Given the description of an element on the screen output the (x, y) to click on. 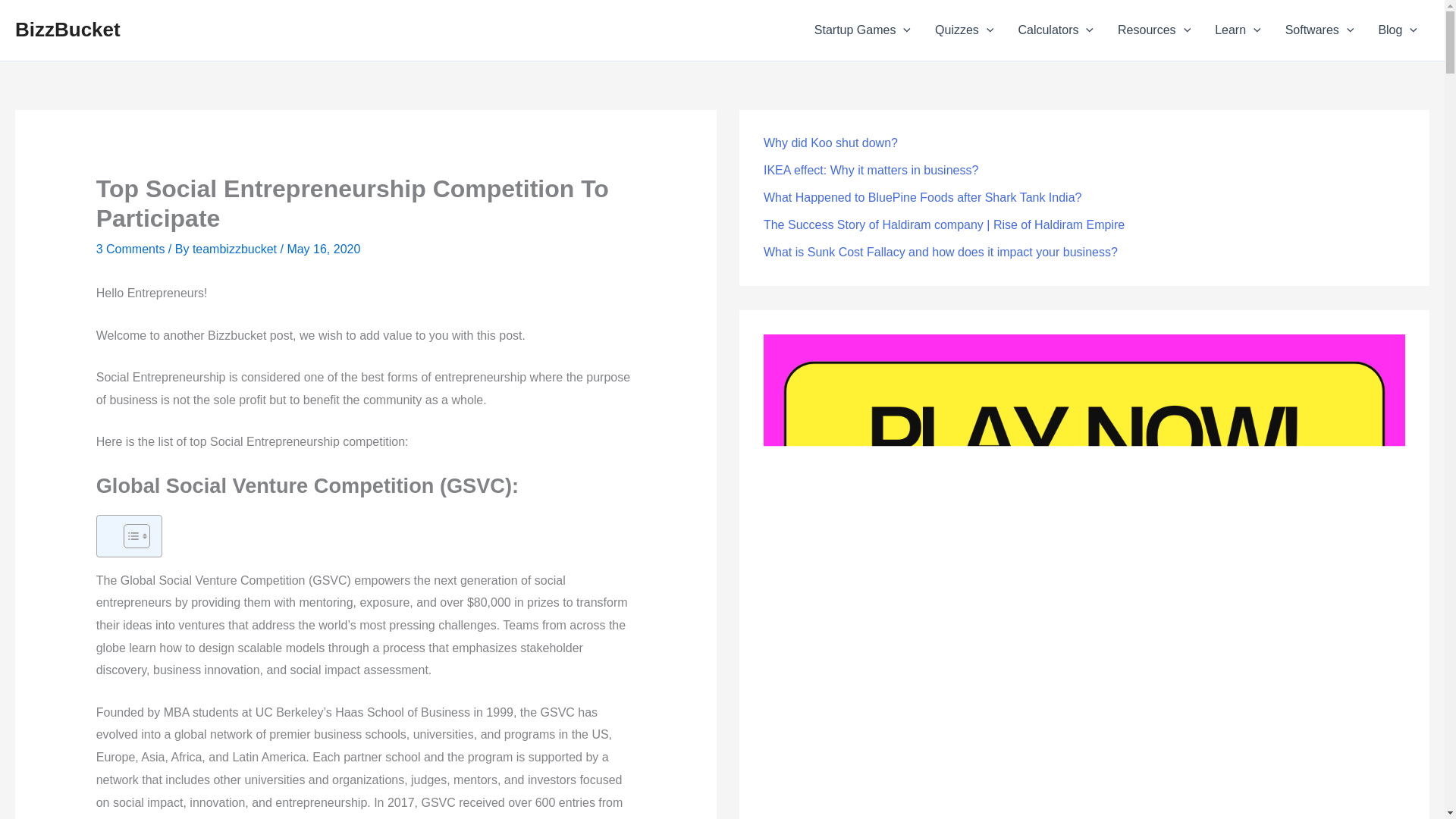
Resources (1153, 30)
Startup Games (862, 30)
Learn (1237, 30)
Quizzes (964, 30)
Calculators (1055, 30)
BizzBucket (67, 29)
View all posts by teambizzbucket (234, 248)
